Given the description of an element on the screen output the (x, y) to click on. 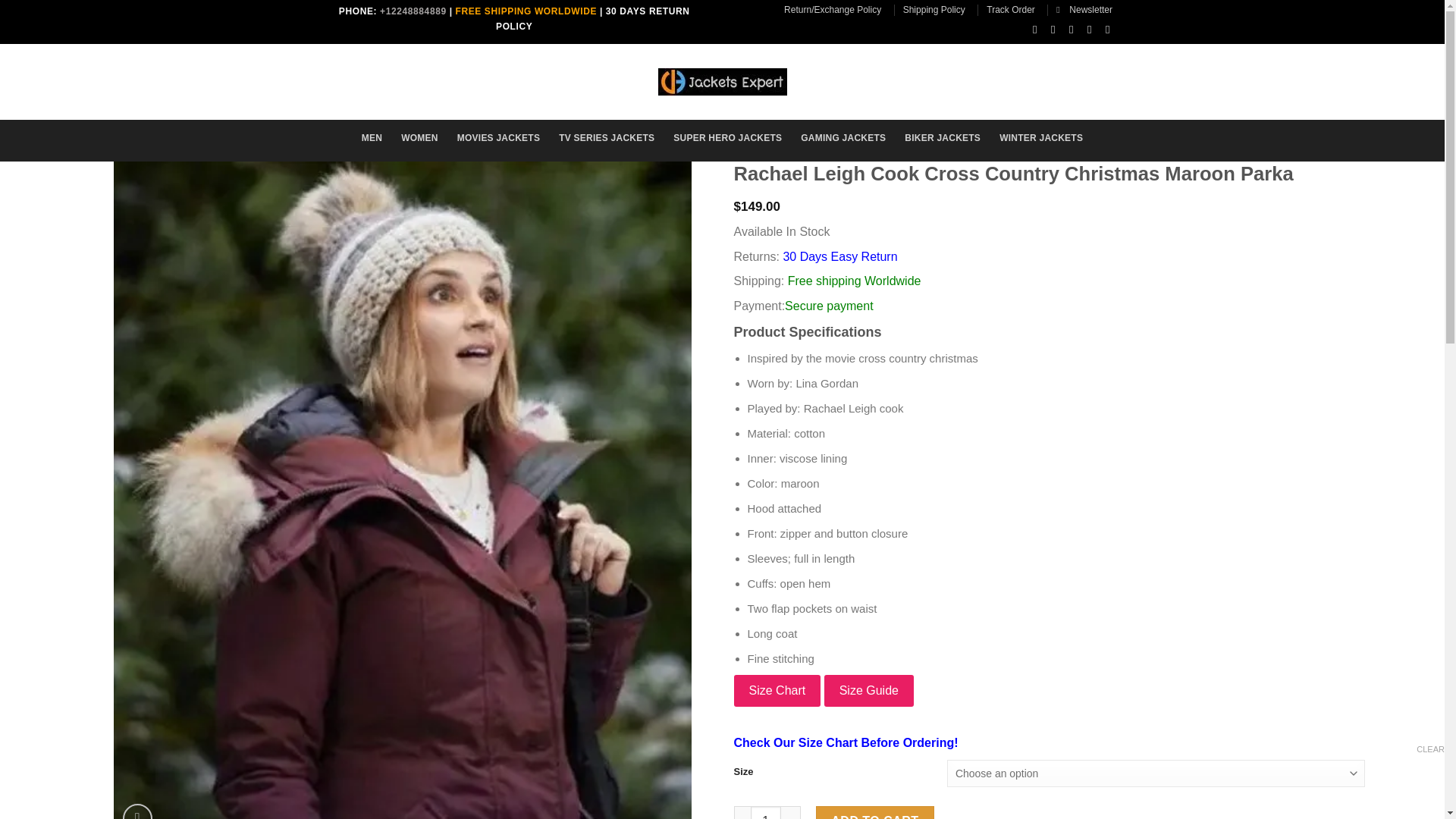
Sign up for Newsletter (1084, 9)
Jackets Expert (721, 81)
MOVIES JACKETS (498, 137)
- (742, 812)
WINTER JACKETS (1040, 137)
Zoom (137, 811)
Size Chart (777, 690)
TV SERIES JACKETS (606, 137)
WOMEN (419, 137)
Shipping Policy (933, 9)
